Given the description of an element on the screen output the (x, y) to click on. 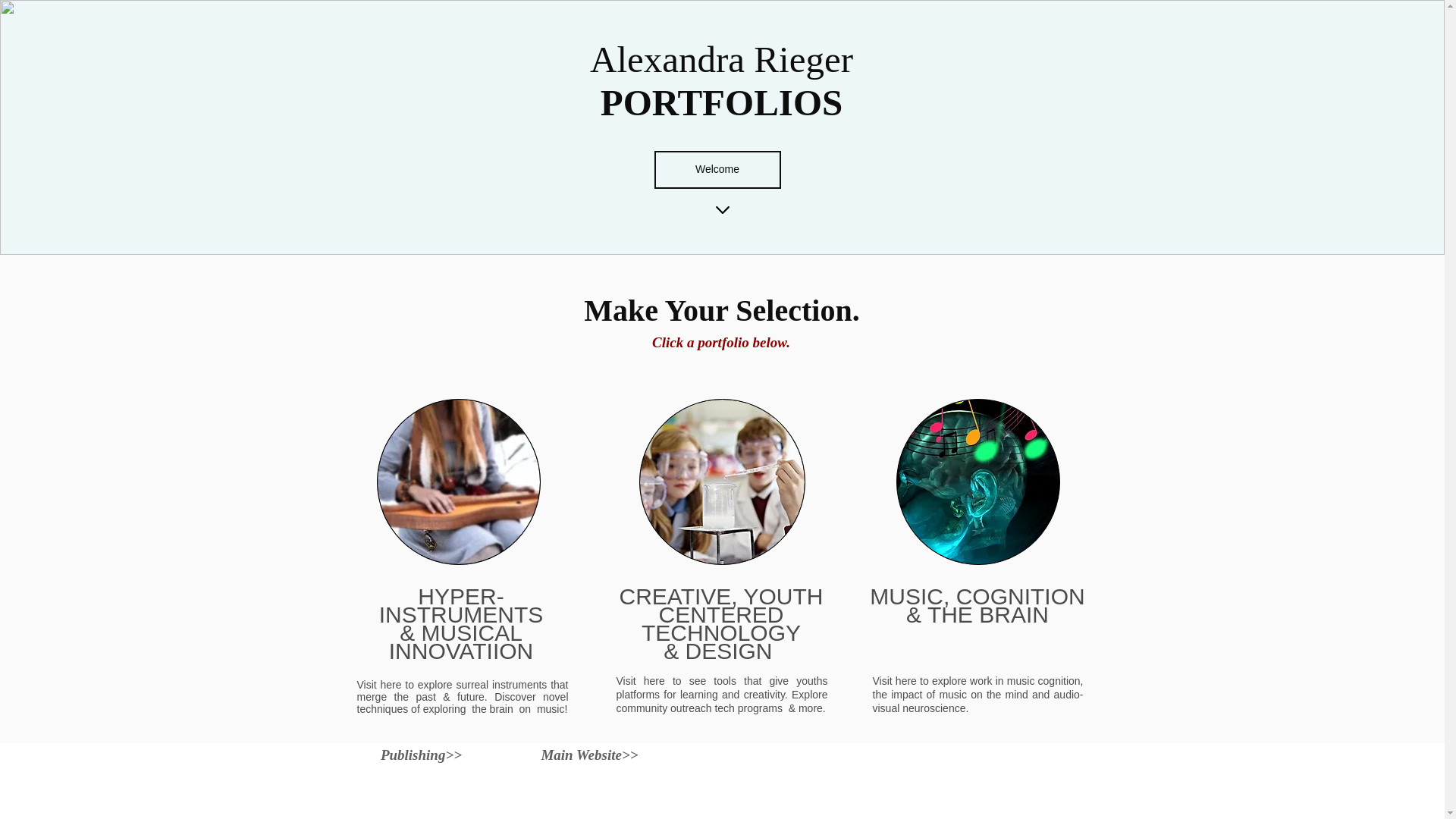
Welcome (716, 169)
Click a portfolio below. (721, 342)
Dulcimer in snow.JPG (457, 481)
Chemistry Students (722, 481)
